Given the description of an element on the screen output the (x, y) to click on. 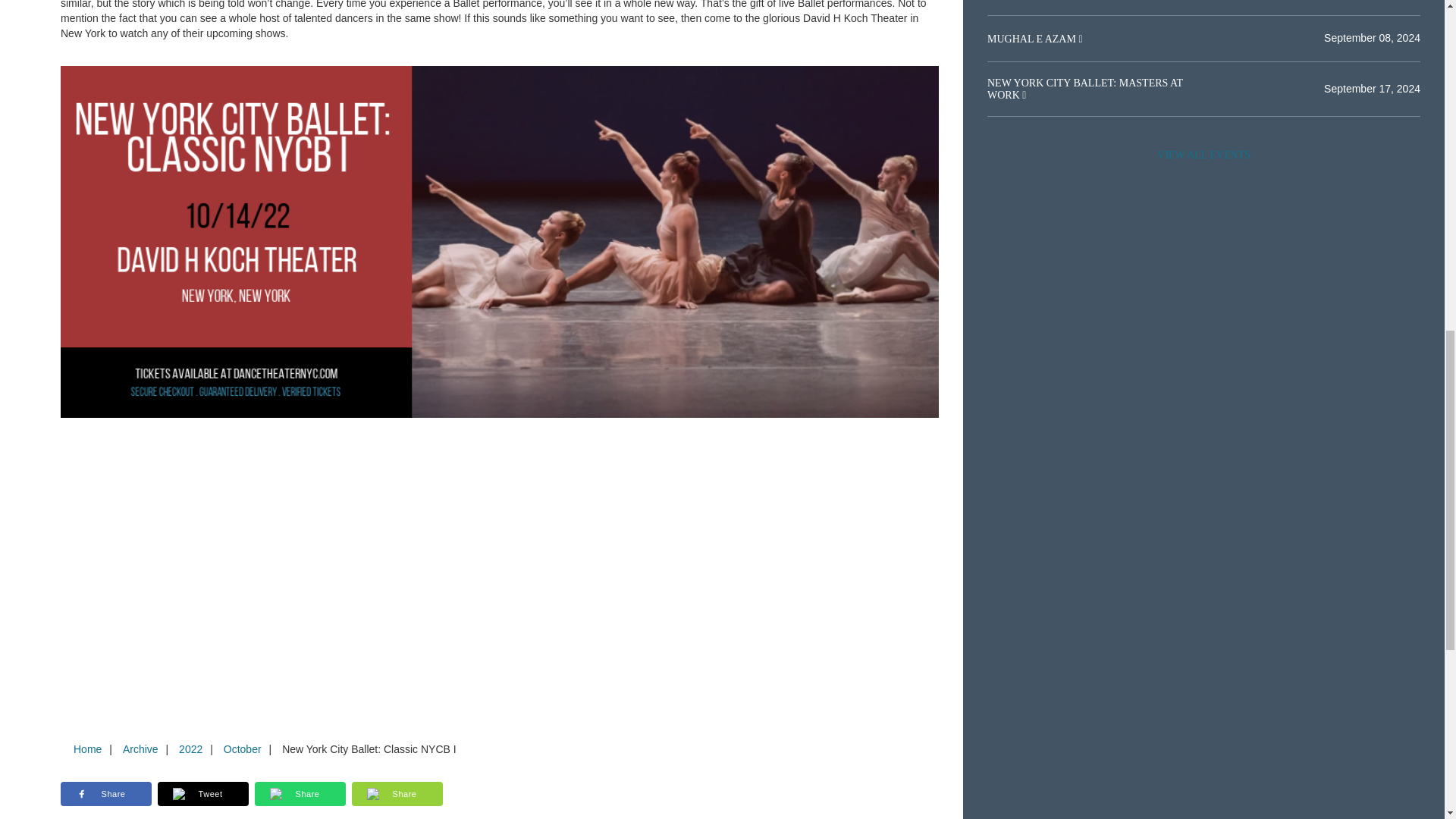
VIEW ALL EVENTS (1203, 154)
2022 (190, 748)
Archive (140, 748)
October (242, 748)
Home (87, 748)
